Given the description of an element on the screen output the (x, y) to click on. 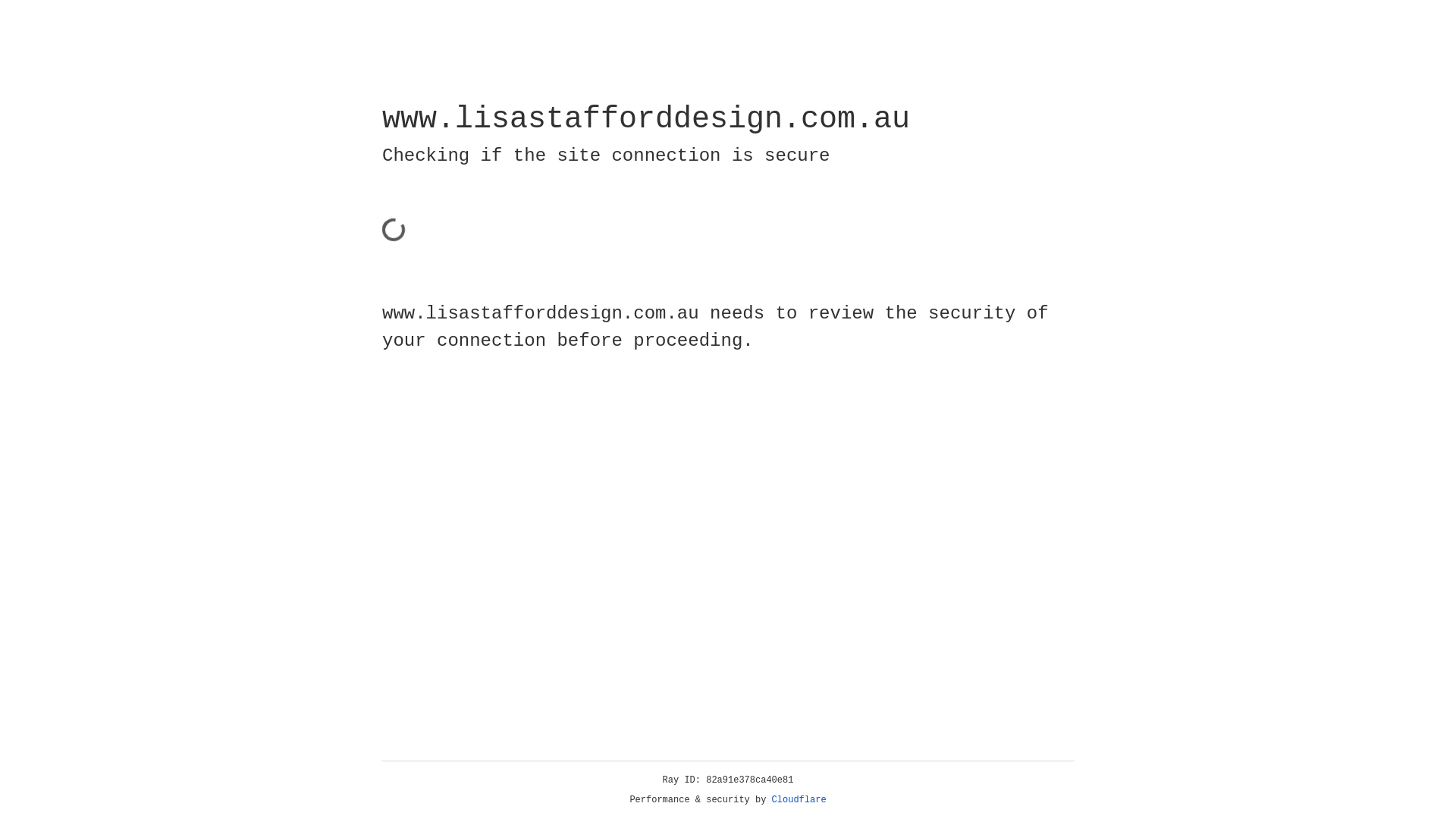
Cloudflare Element type: text (798, 799)
